Given the description of an element on the screen output the (x, y) to click on. 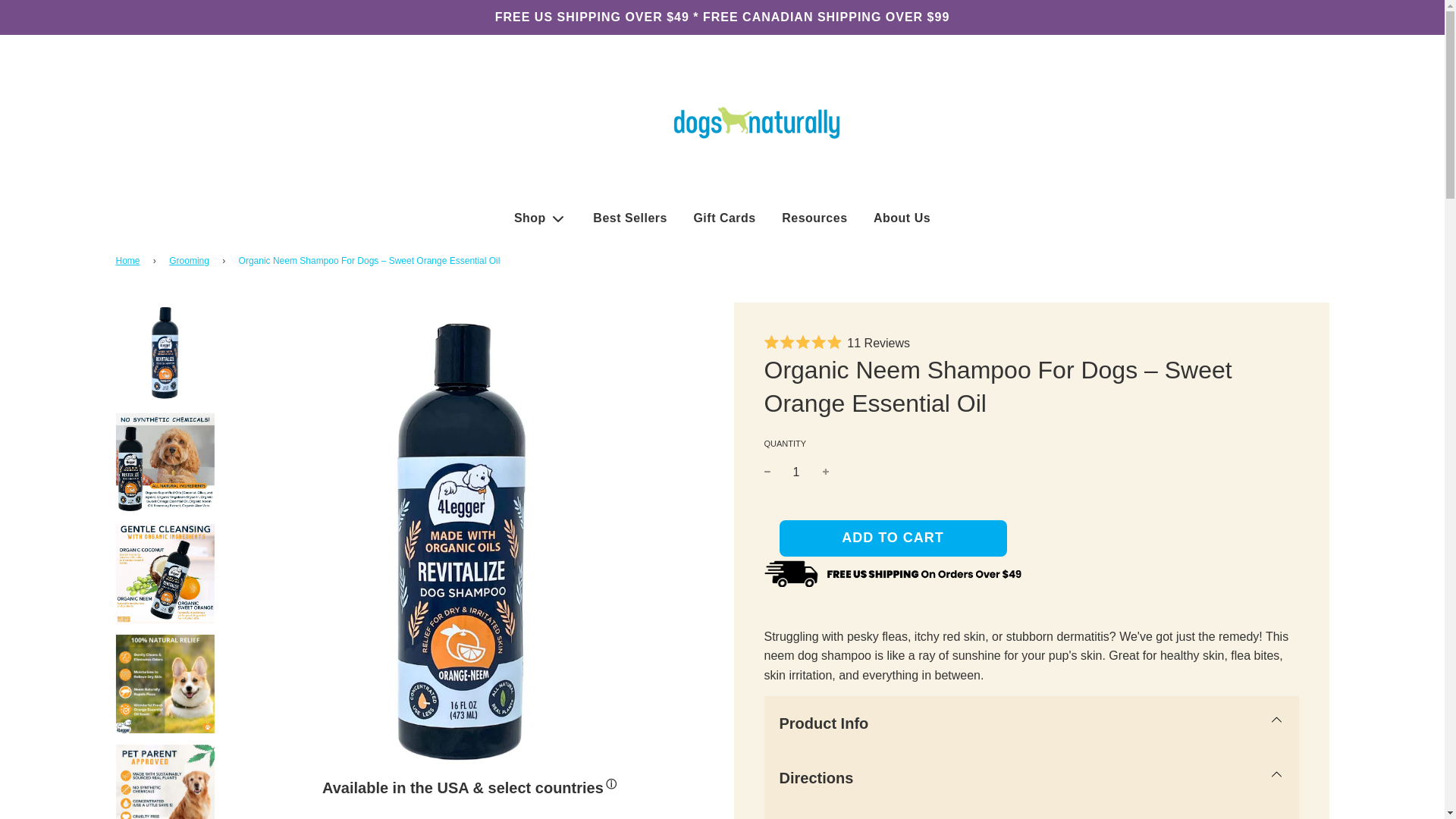
Back to the frontpage (129, 260)
1 (796, 472)
